Given the description of an element on the screen output the (x, y) to click on. 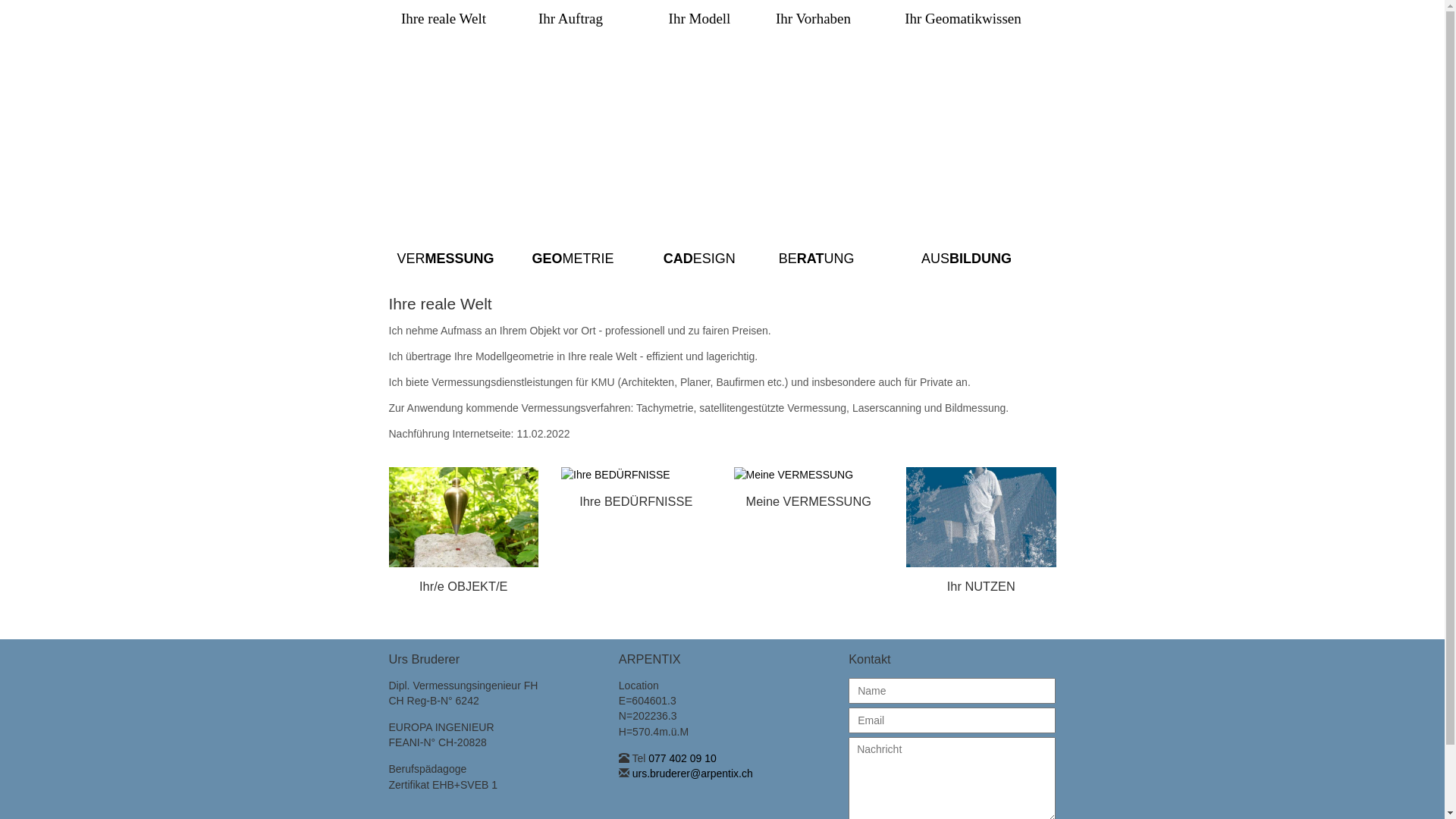
VERMESSUNG Element type: text (444, 258)
Ihr NUTZEN Element type: text (981, 586)
Ihr Vorhaben Element type: text (813, 18)
urs.bruderer@arpentix.ch Element type: text (692, 773)
Ihr Geomatikwissen Element type: text (963, 18)
GEOMETRIE Element type: text (572, 258)
Ihre reale Welt Element type: text (443, 18)
BERATUNG Element type: text (816, 258)
Ihr Modell Element type: text (699, 18)
Ihr Auftrag Element type: text (570, 18)
Meine VERMESSUNG Element type: text (809, 501)
Ihr/e OBJEKT/E Element type: text (463, 586)
AUSBILDUNG Element type: text (966, 258)
077 402 09 10 Element type: text (682, 758)
CADESIGN Element type: text (699, 258)
